Given the description of an element on the screen output the (x, y) to click on. 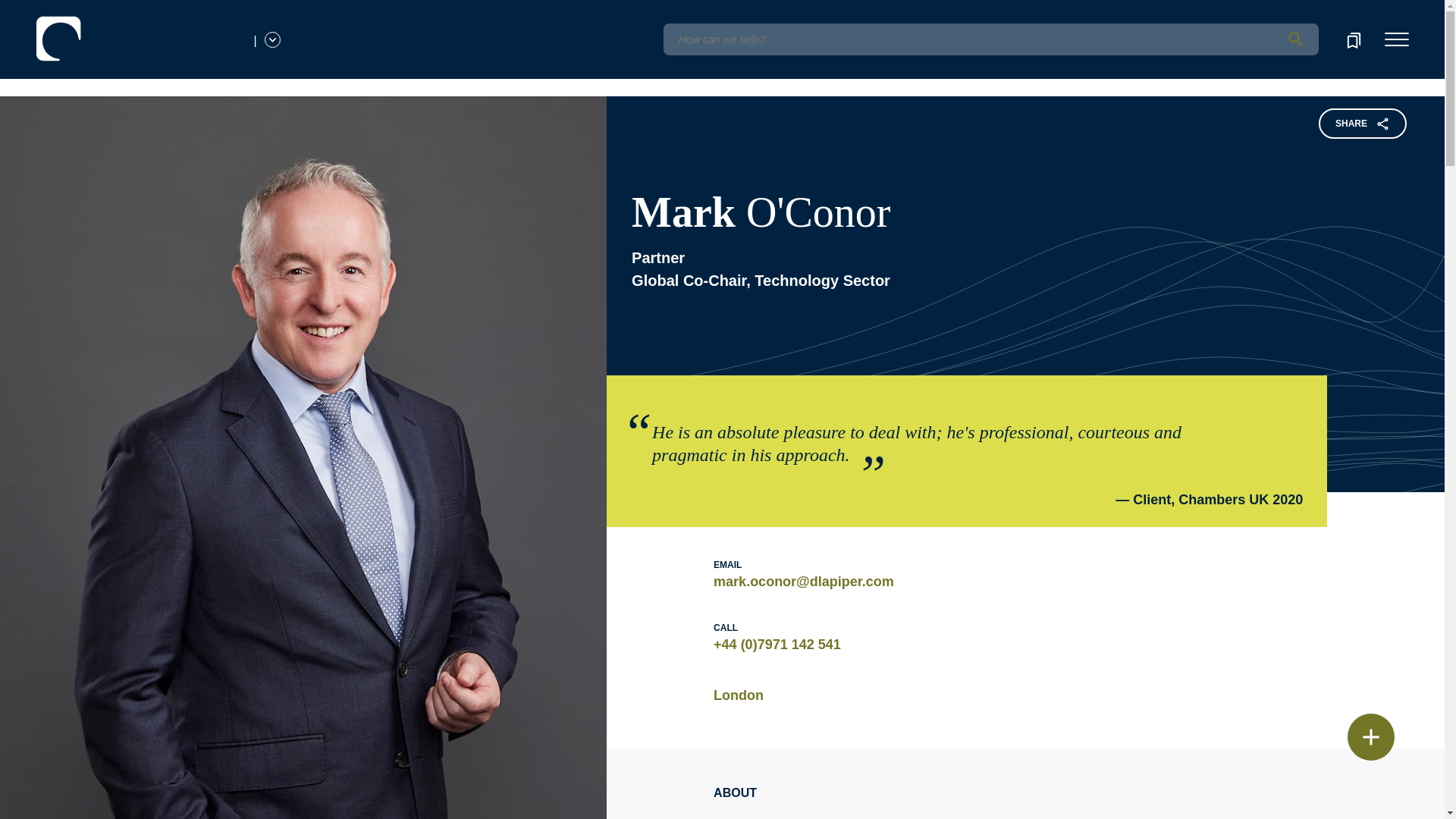
Insert a query. Press enter to send (990, 39)
London (737, 694)
